Given the description of an element on the screen output the (x, y) to click on. 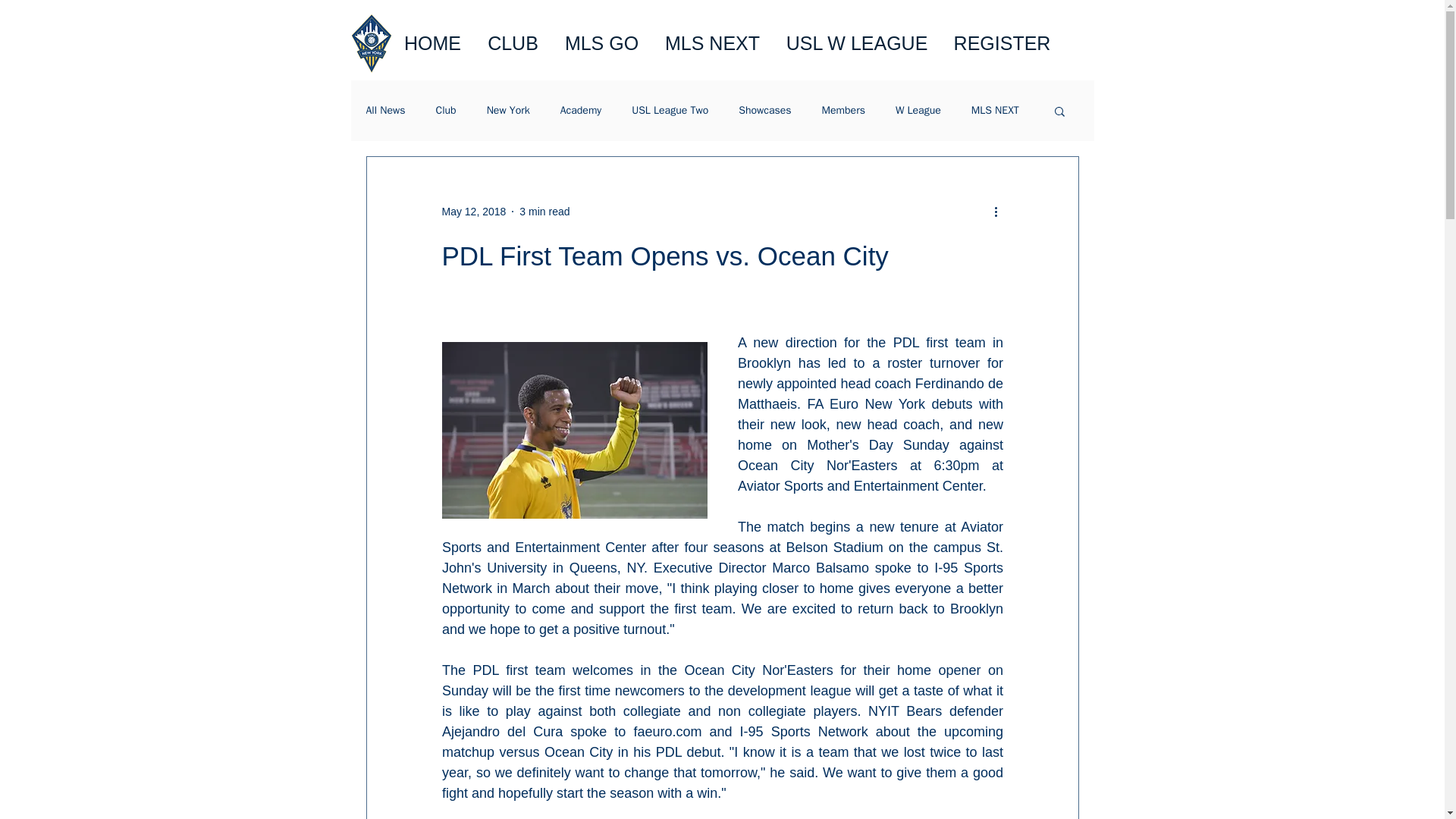
3 min read (544, 210)
REGISTER (1001, 43)
USL League Two (669, 110)
Members (843, 110)
New York (507, 110)
Showcases (764, 110)
USL W LEAGUE (856, 43)
May 12, 2018 (473, 210)
MLS NEXT (712, 43)
Club (446, 110)
